Given the description of an element on the screen output the (x, y) to click on. 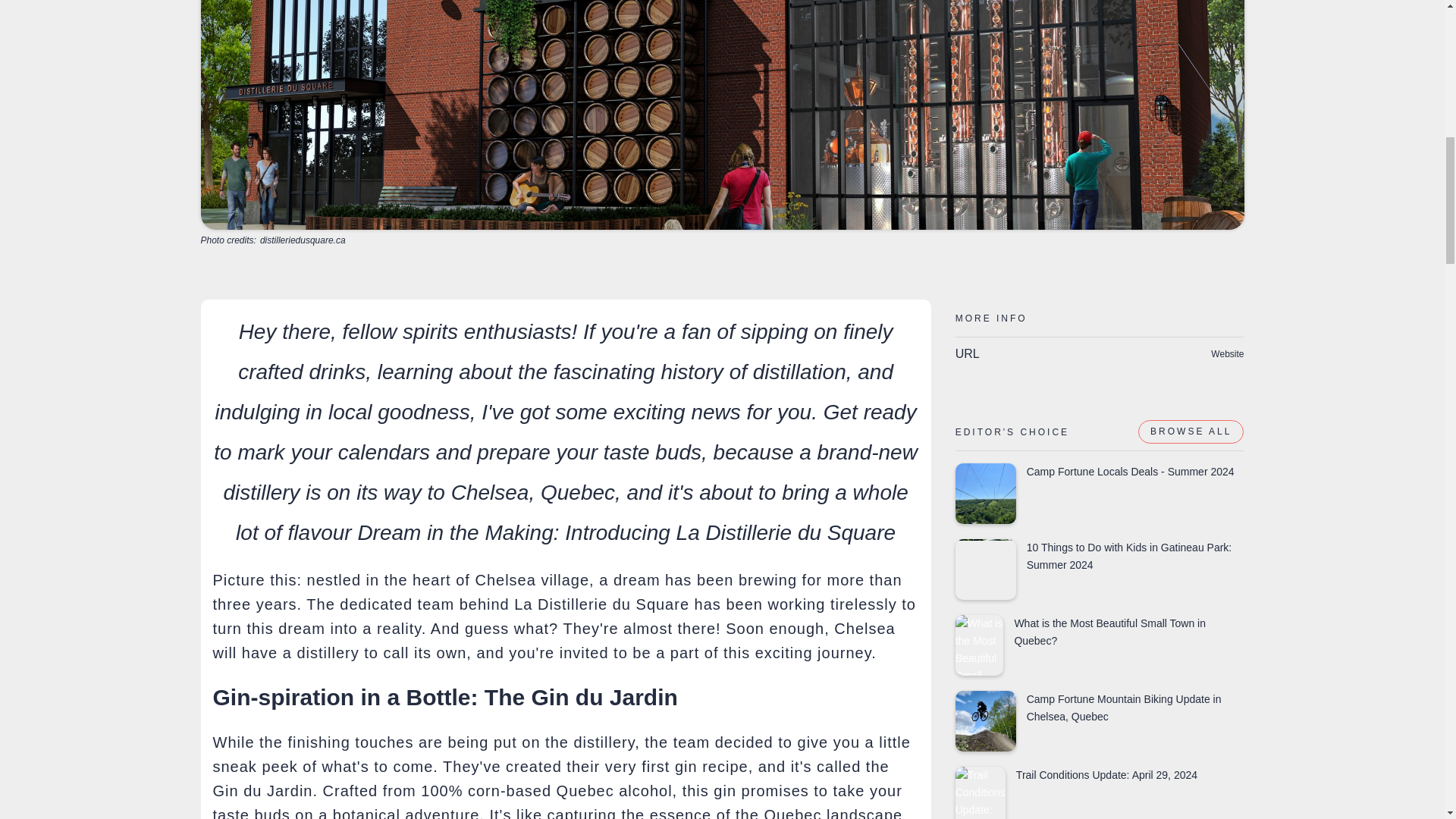
Trail Conditions Update: April 29, 2024 (1099, 792)
Camp Fortune Locals Deals - Summer 2024 (1099, 493)
Camp Fortune Mountain Biking Update in Chelsea, Quebec (1099, 721)
BROWSE ALL (1190, 431)
Website (1227, 353)
10 Things to Do with Kids in Gatineau Park: Summer 2024 (1099, 568)
What is the Most Beautiful Small Town in Quebec? (1099, 645)
